Given the description of an element on the screen output the (x, y) to click on. 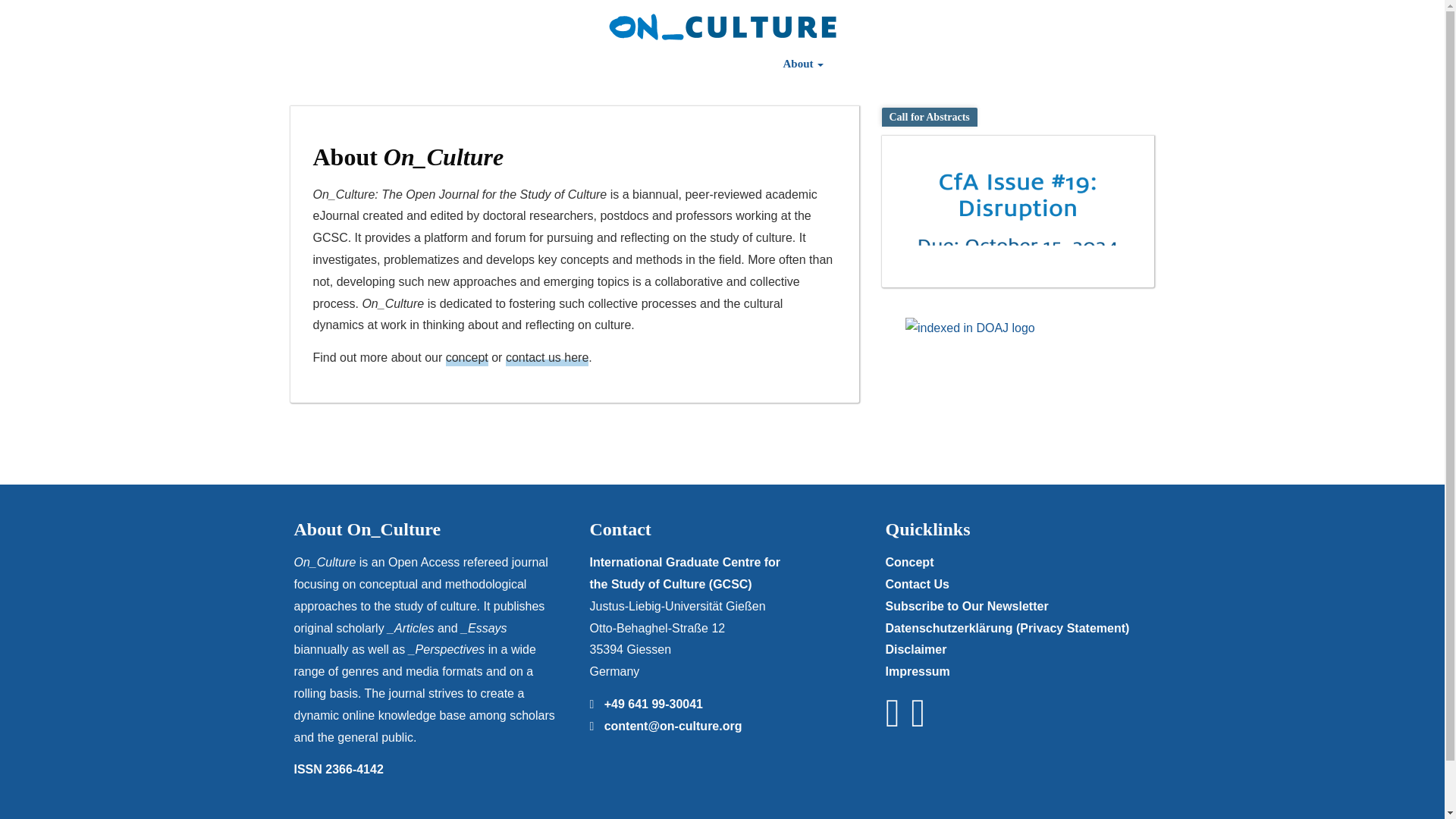
Search (1133, 64)
About (802, 64)
contact us here (546, 358)
Contact Us (1008, 64)
Subscribe to Our Newsletter (966, 605)
Contact Us (1008, 64)
Disclaimer (915, 649)
The Journal (392, 64)
Submission (597, 64)
Submission (597, 64)
